Given the description of an element on the screen output the (x, y) to click on. 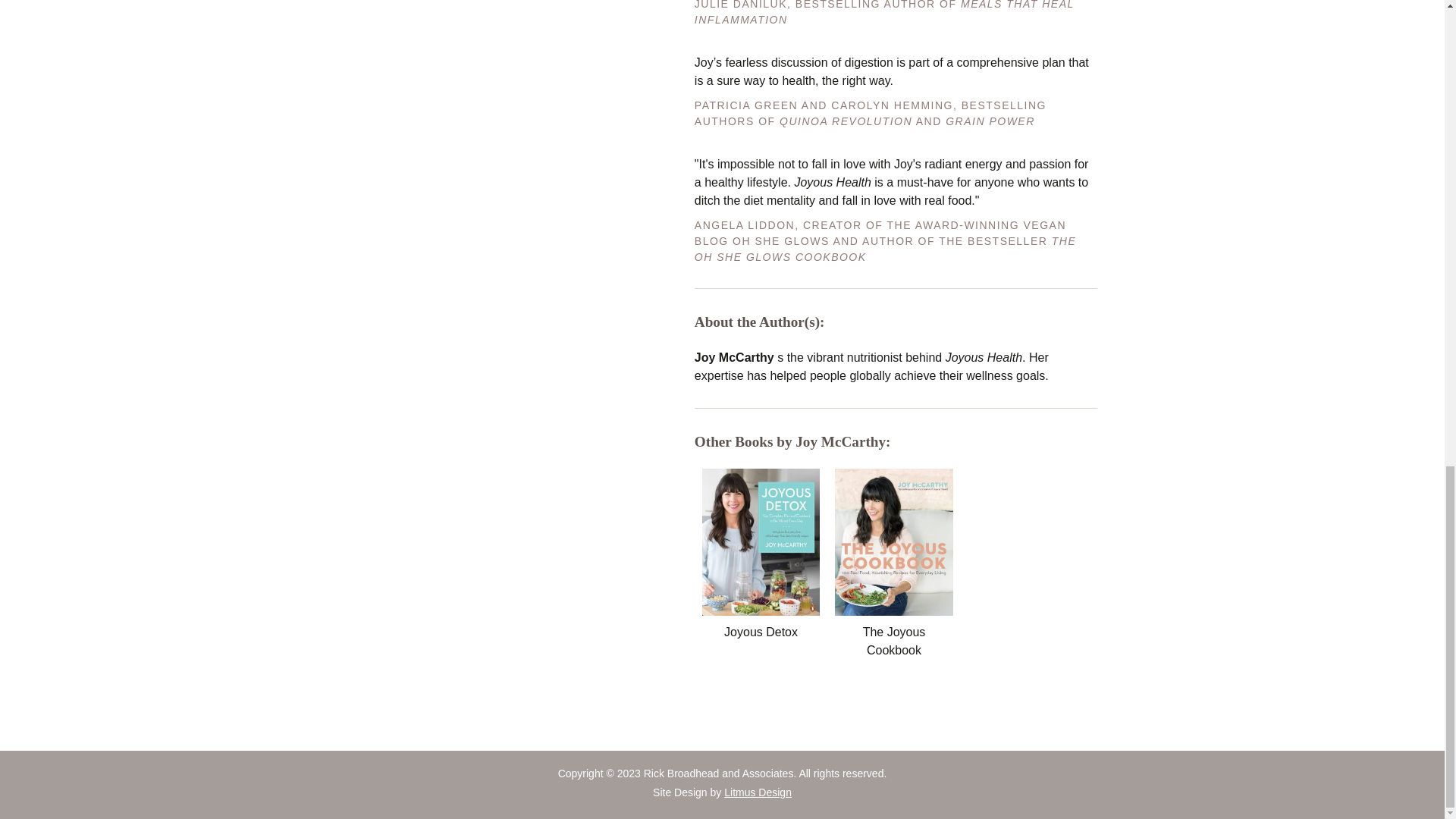
Litmus Design (757, 792)
